Given the description of an element on the screen output the (x, y) to click on. 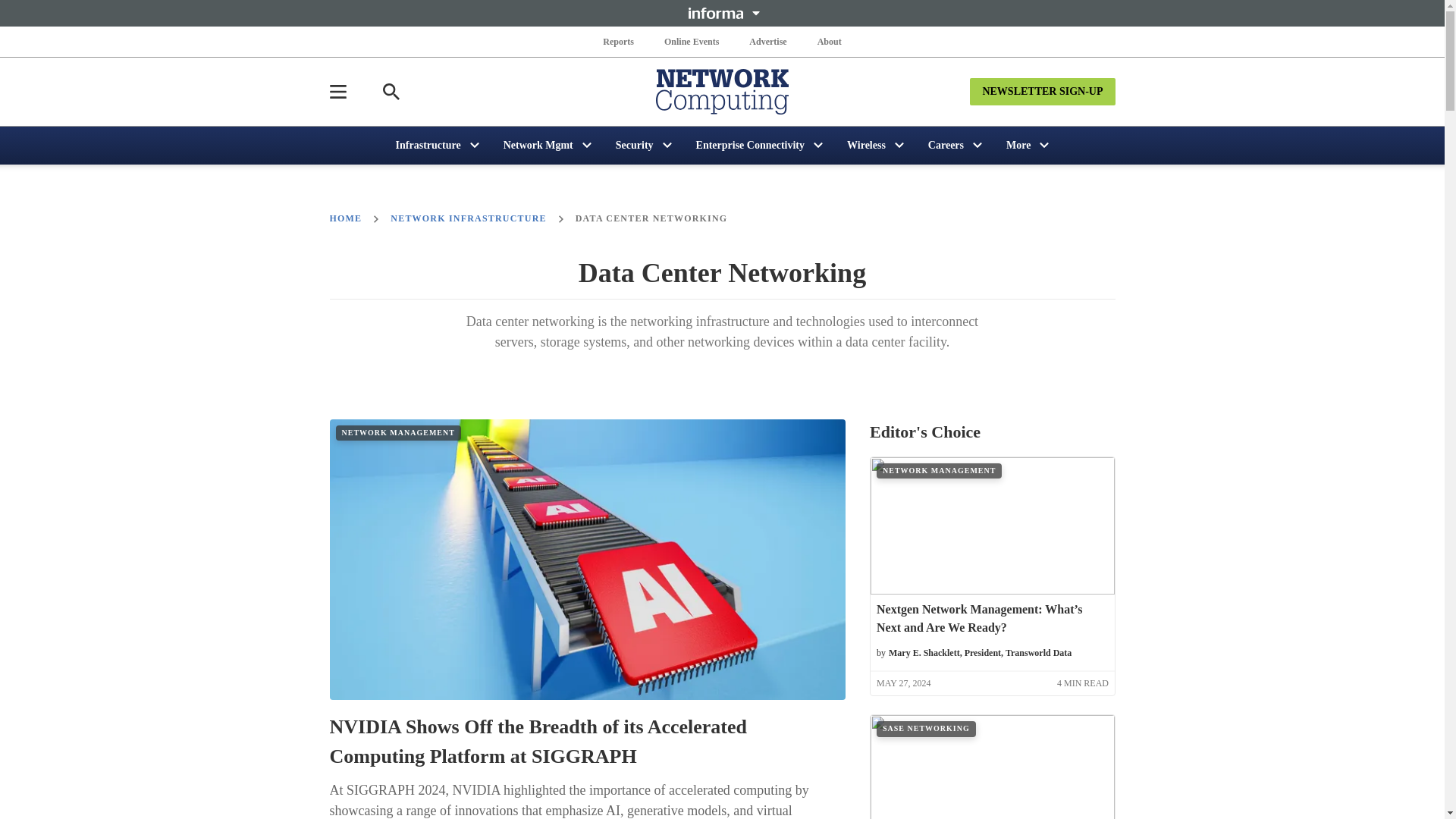
Network Computing Logo (722, 91)
NEWSLETTER SIGN-UP (1042, 90)
Reports (618, 41)
Advertise (767, 41)
About (828, 41)
Online Events (691, 41)
